Given the description of an element on the screen output the (x, y) to click on. 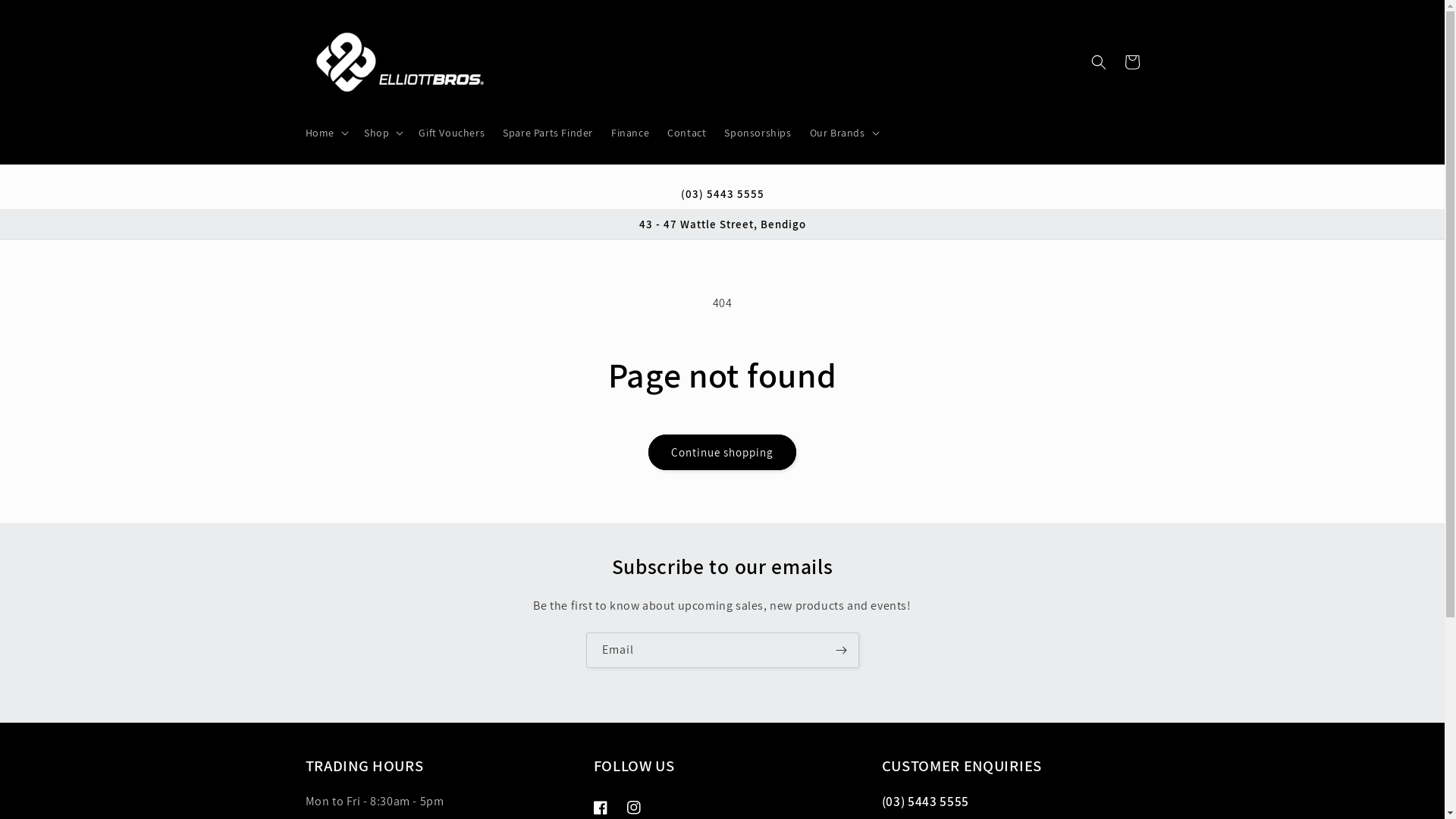
Finance Element type: text (630, 132)
Cart Element type: text (1131, 61)
Spare Parts Finder Element type: text (547, 132)
Gift Vouchers Element type: text (451, 132)
Continue shopping Element type: text (722, 452)
Contact Element type: text (686, 132)
Sponsorships Element type: text (757, 132)
